Given the description of an element on the screen output the (x, y) to click on. 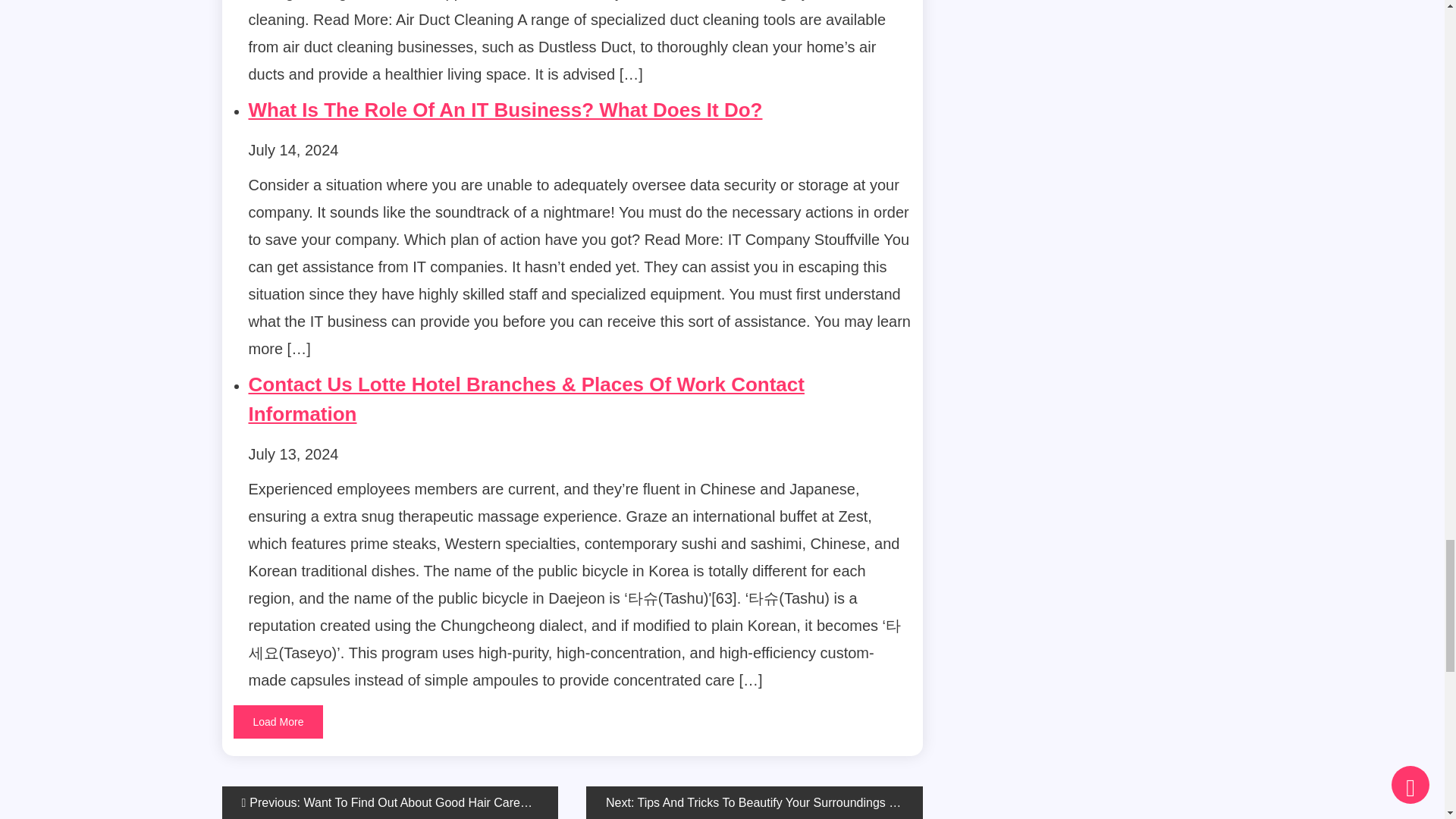
Load More (277, 721)
What Is The Role Of An IT Business? What Does It Do? (505, 109)
